Given the description of an element on the screen output the (x, y) to click on. 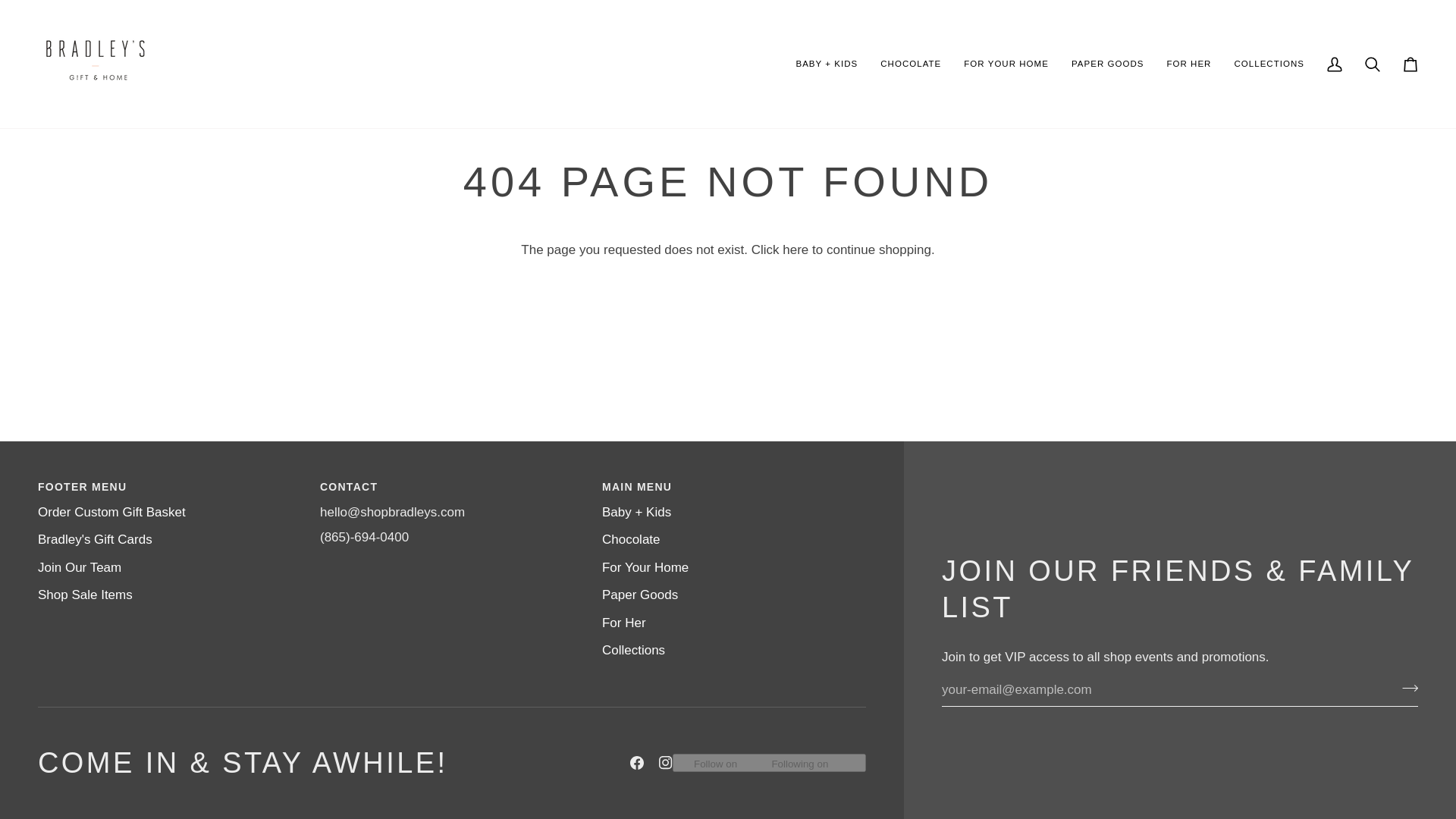
Instagram (665, 762)
Facebook (636, 762)
